Given the description of an element on the screen output the (x, y) to click on. 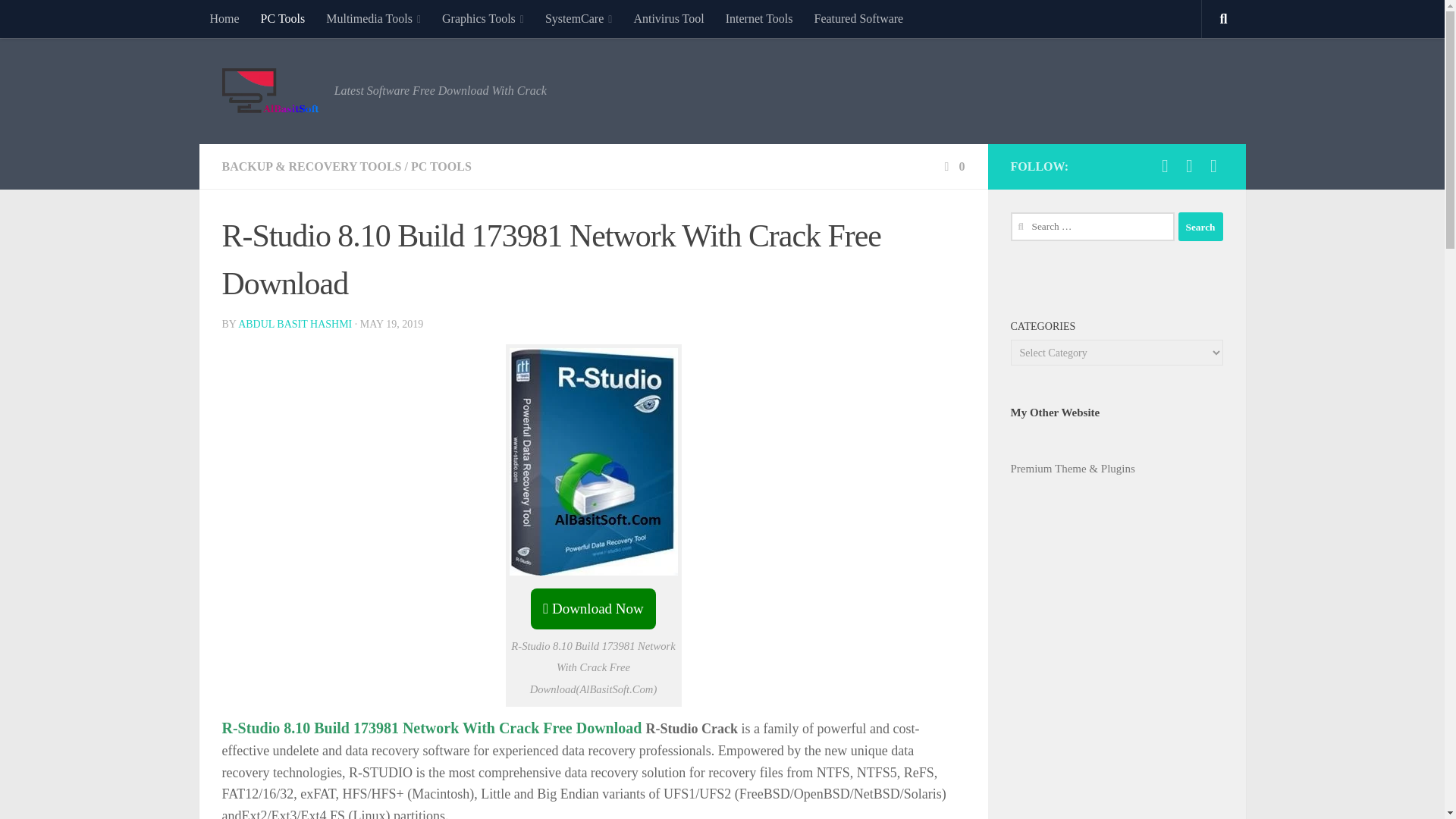
PC Tools (282, 18)
Search (1200, 226)
Skip to content (59, 20)
Graphics Tools (482, 18)
Home (223, 18)
Internet Tools (758, 18)
Antivirus Tool (668, 18)
Posts by Abdul Basit Hashmi (295, 324)
Follow us on Youtube (1164, 166)
Multimedia Tools (372, 18)
